Given the description of an element on the screen output the (x, y) to click on. 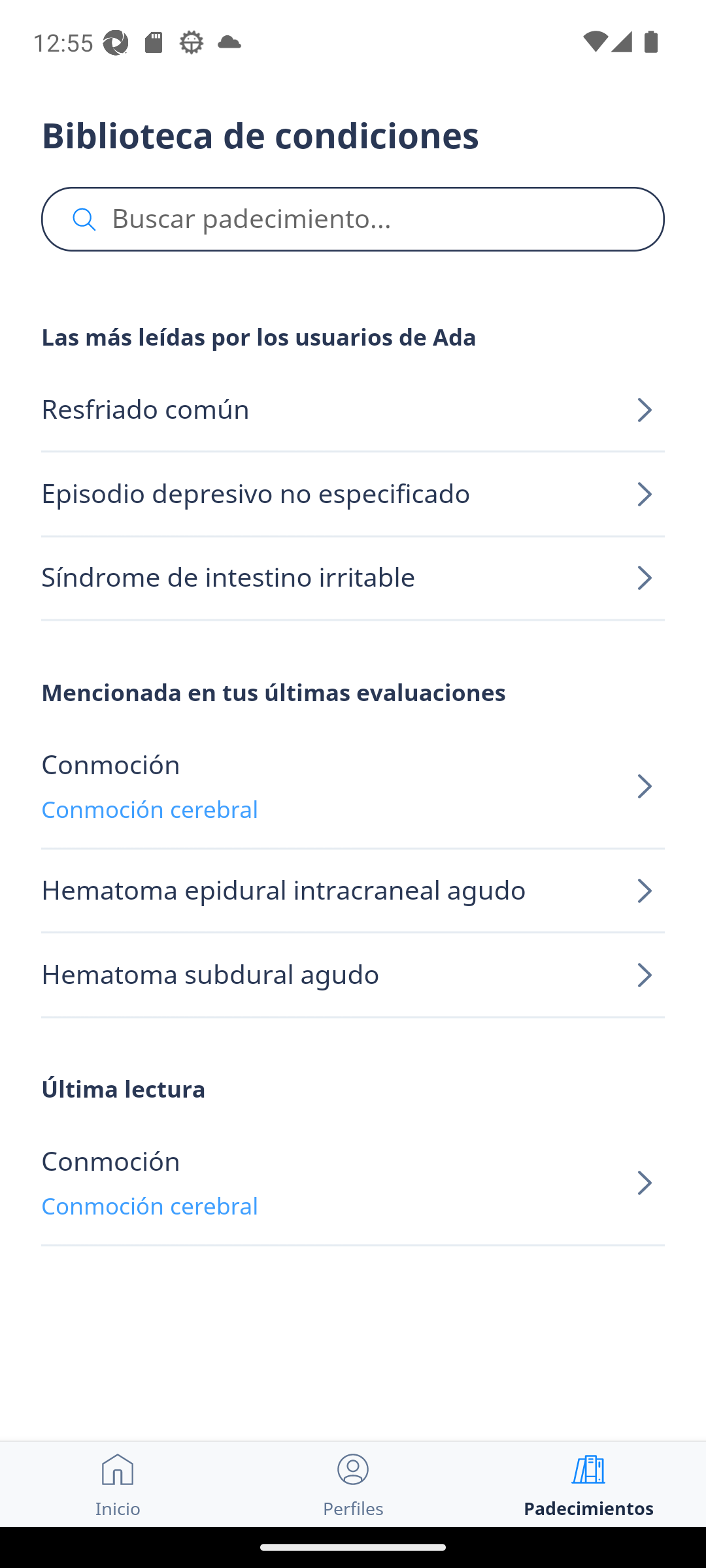
Buscar padecimiento... (352, 219)
Resfriado común (352, 409)
Episodio depresivo no especificado (352, 494)
Síndrome de intestino irritable (352, 578)
Conmoción Conmoción cerebral (352, 786)
Hematoma epidural intracraneal agudo (352, 890)
Hematoma subdural agudo (352, 974)
Conmoción Conmoción cerebral (352, 1183)
Inicio (117, 1484)
Perfiles (352, 1484)
Padecimientos (588, 1484)
